Given the description of an element on the screen output the (x, y) to click on. 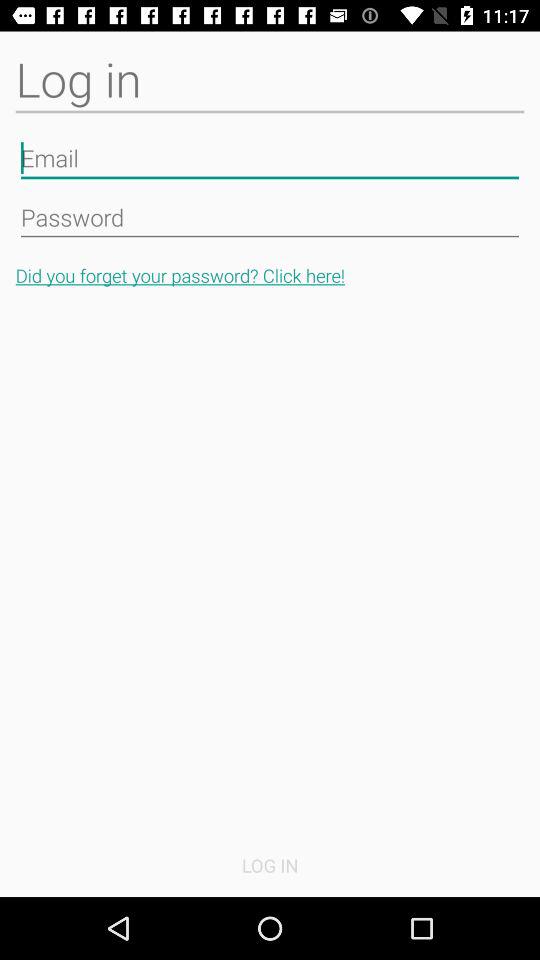
click the button above log in (269, 275)
